Given the description of an element on the screen output the (x, y) to click on. 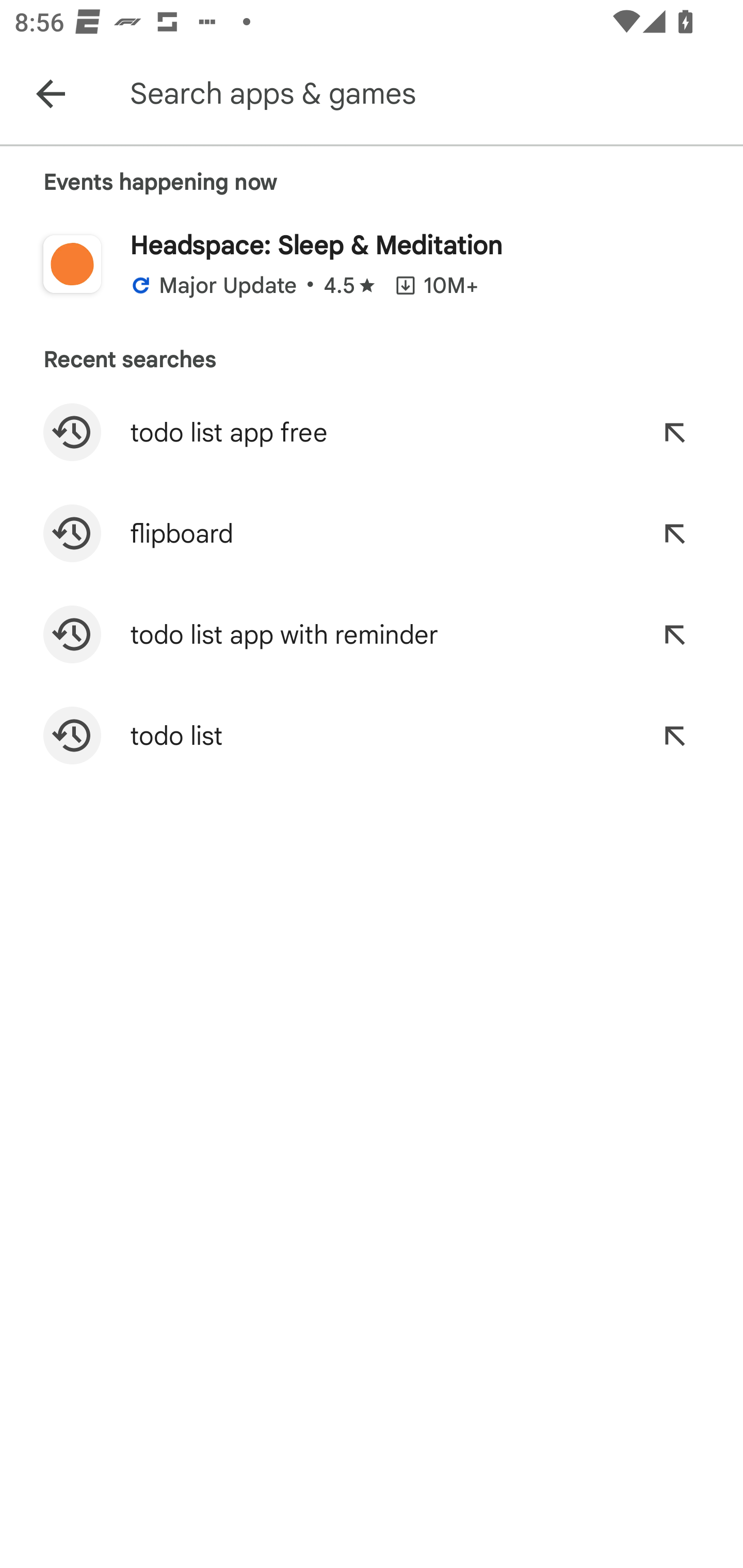
Navigate up (50, 93)
Search apps & games (432, 93)
Refine search to "todo list app free" (673, 431)
Refine search to "flipboard" (673, 532)
Refine search to "todo list app with reminder" (673, 634)
Refine search to "todo list" (673, 735)
